Given the description of an element on the screen output the (x, y) to click on. 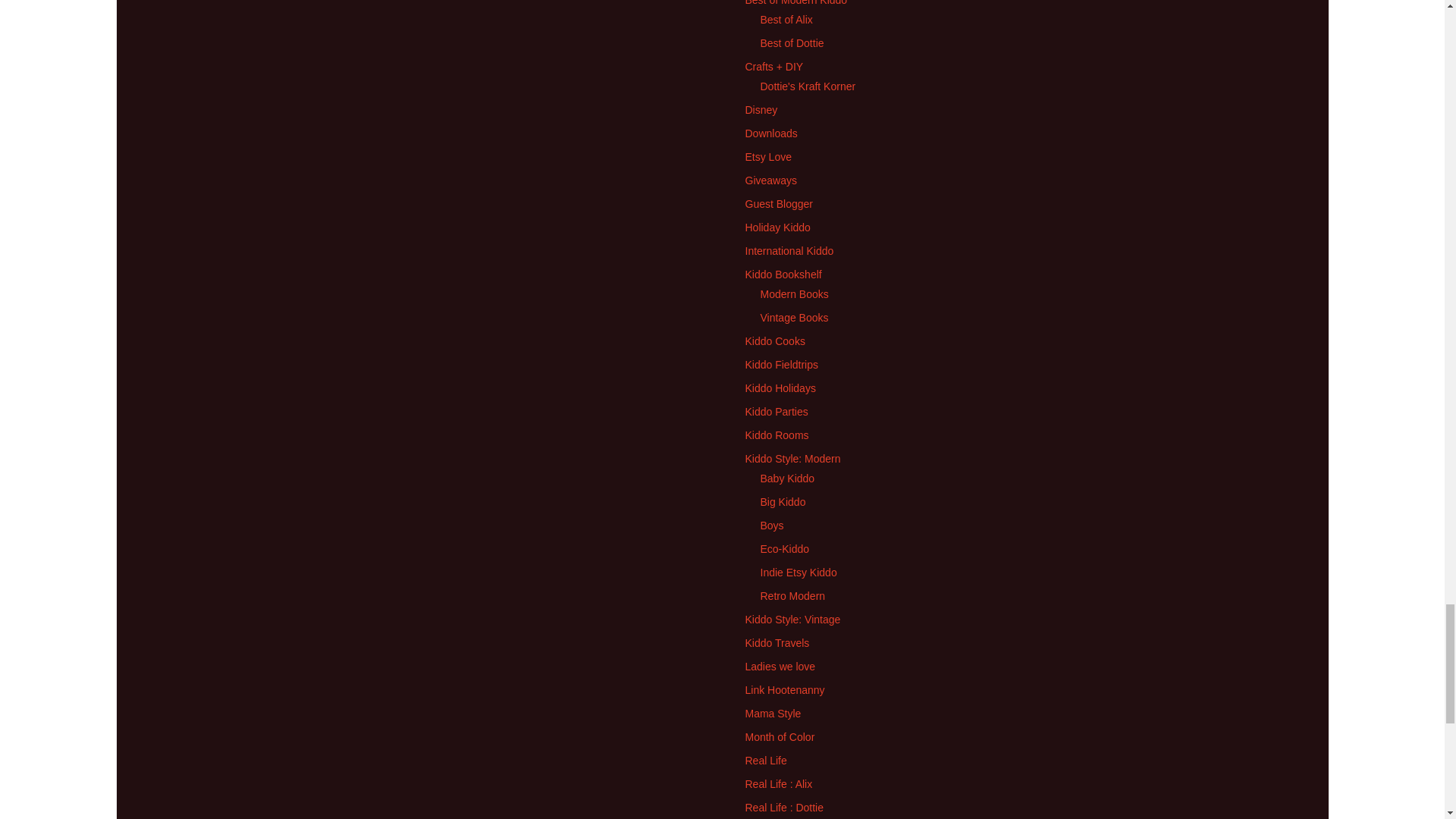
Best of Alix (786, 19)
Best of Dottie (792, 42)
Best of Modern Kiddo (795, 2)
Dottie's Kraft Korner (808, 86)
Disney (760, 110)
